Given the description of an element on the screen output the (x, y) to click on. 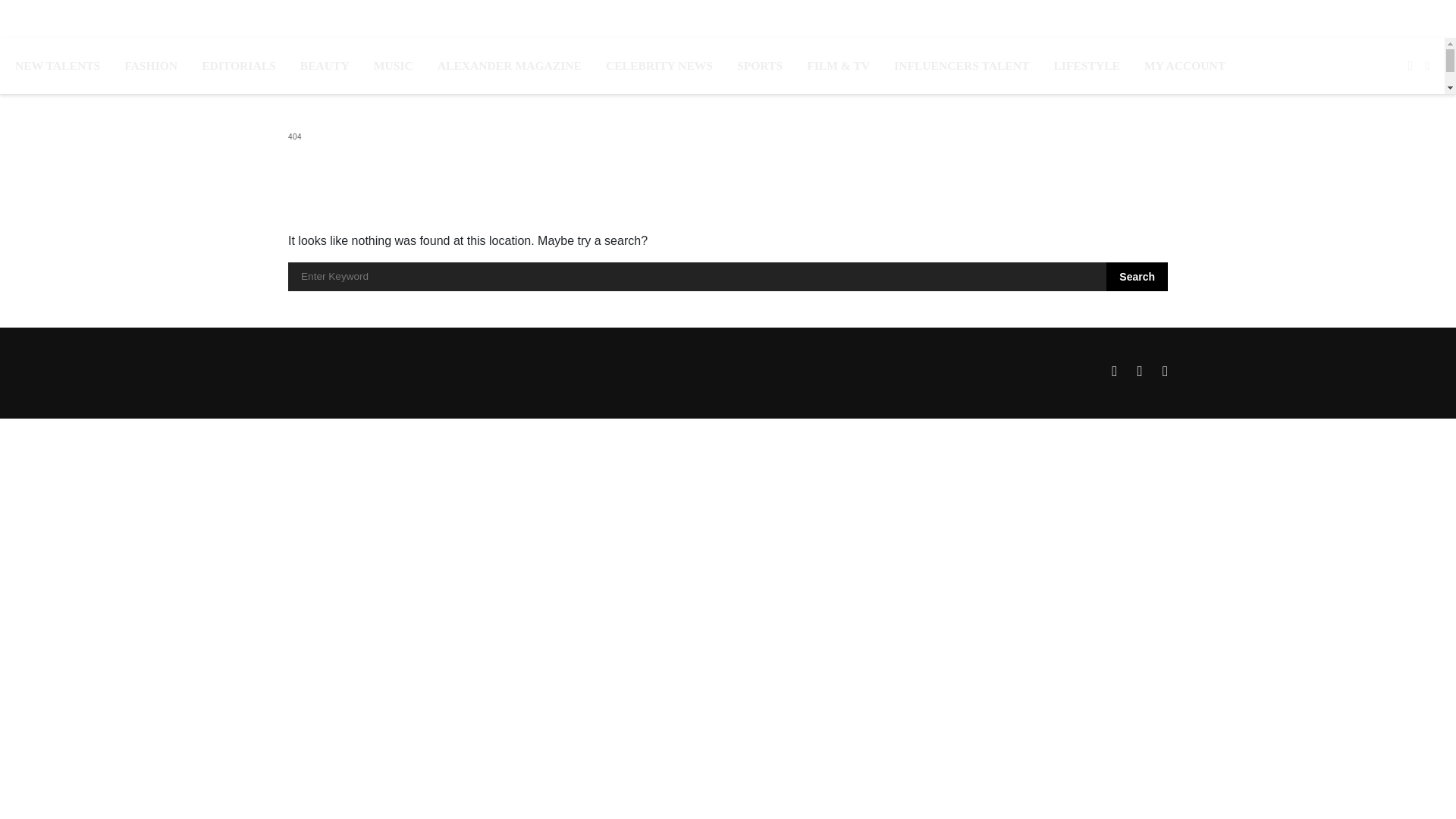
FASHION (150, 65)
MY ACCOUNT (1184, 65)
Search (1136, 276)
INFLUENCERS TALENT (961, 65)
CELEBRITY NEWS (659, 65)
LIFESTYLE (1085, 65)
NEW TALENTS (57, 65)
EDITORIALS (239, 65)
BEAUTY (324, 65)
ALEXANDER MAGAZINE (509, 65)
